Given the description of an element on the screen output the (x, y) to click on. 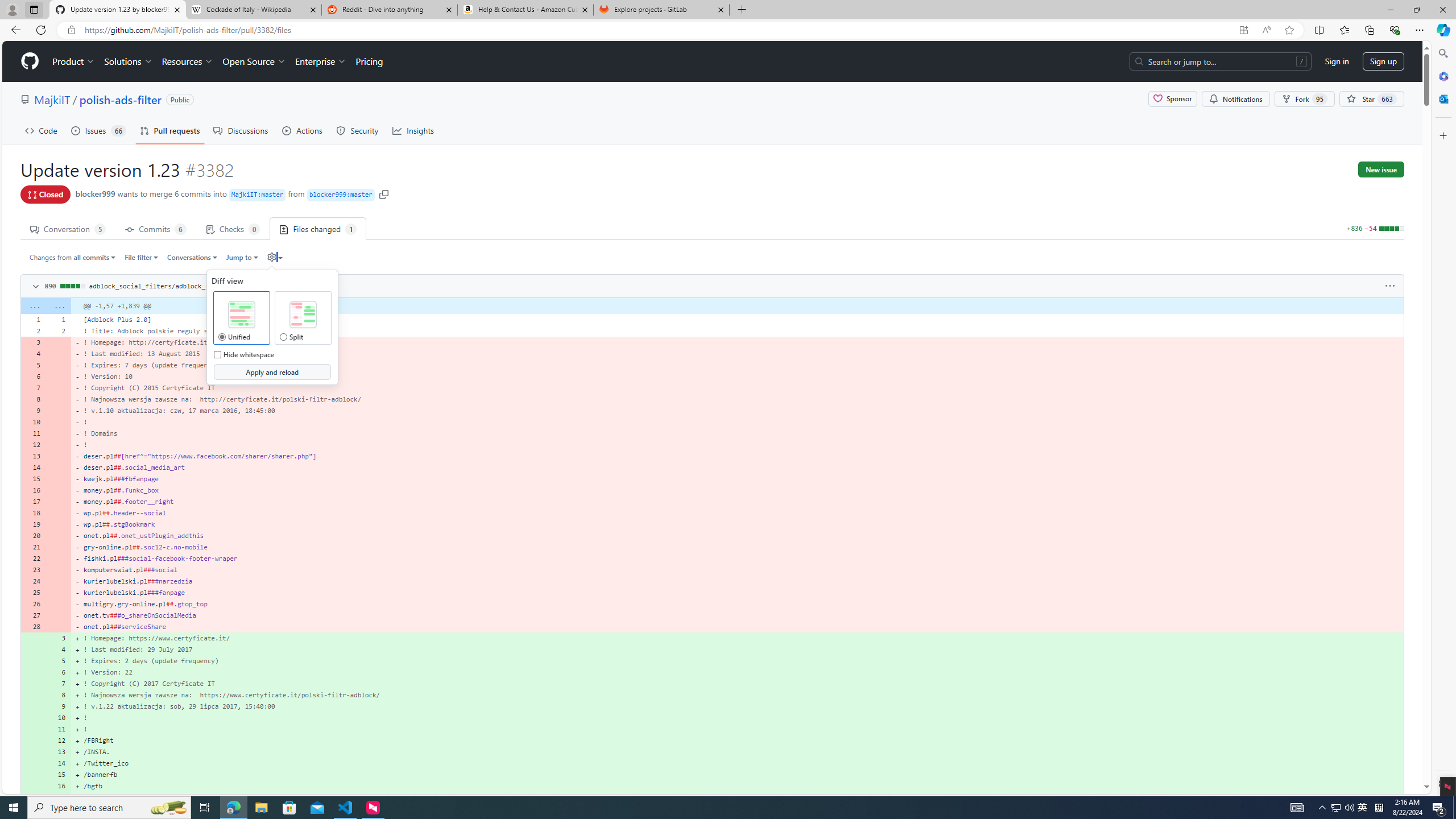
Class: show-top-border (711, 797)
5 (58, 660)
20 (33, 535)
Discussions (240, 130)
3 (58, 637)
Code (41, 130)
Open Source (254, 60)
blocker999 (95, 193)
